Given the description of an element on the screen output the (x, y) to click on. 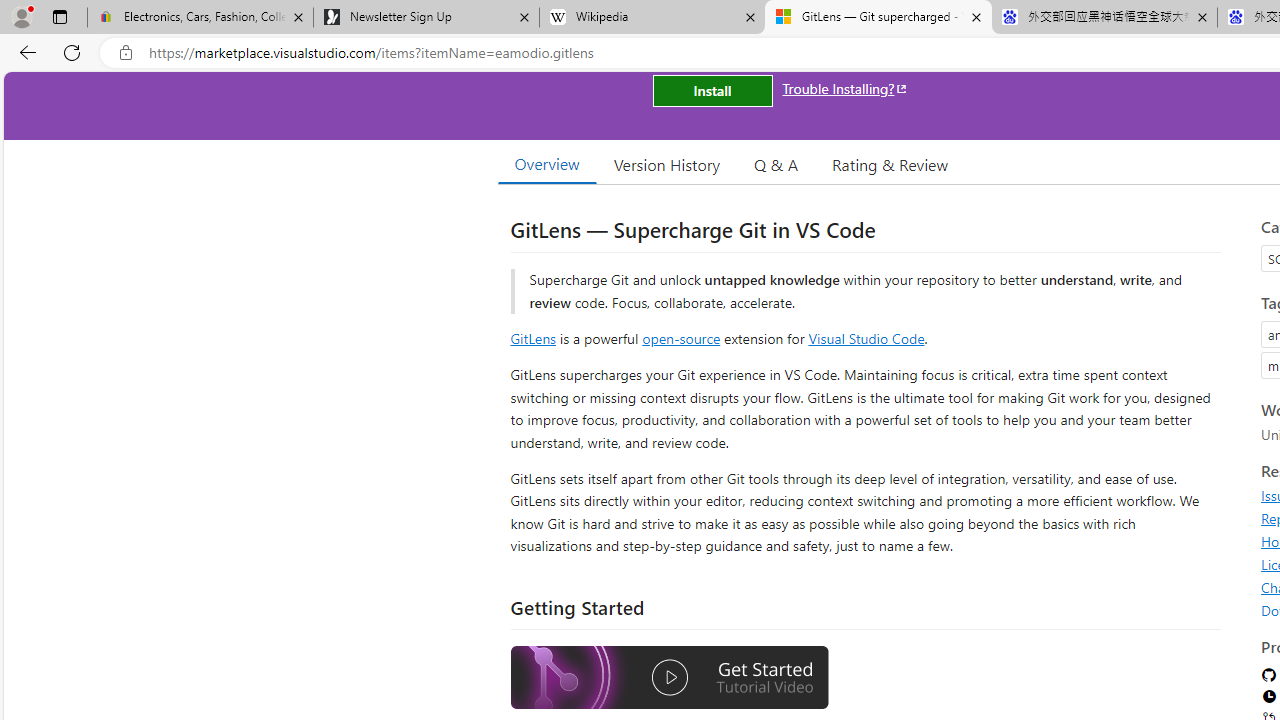
Q & A (776, 164)
Rating & Review (890, 164)
Watch the GitLens Getting Started video (669, 679)
